Given the description of an element on the screen output the (x, y) to click on. 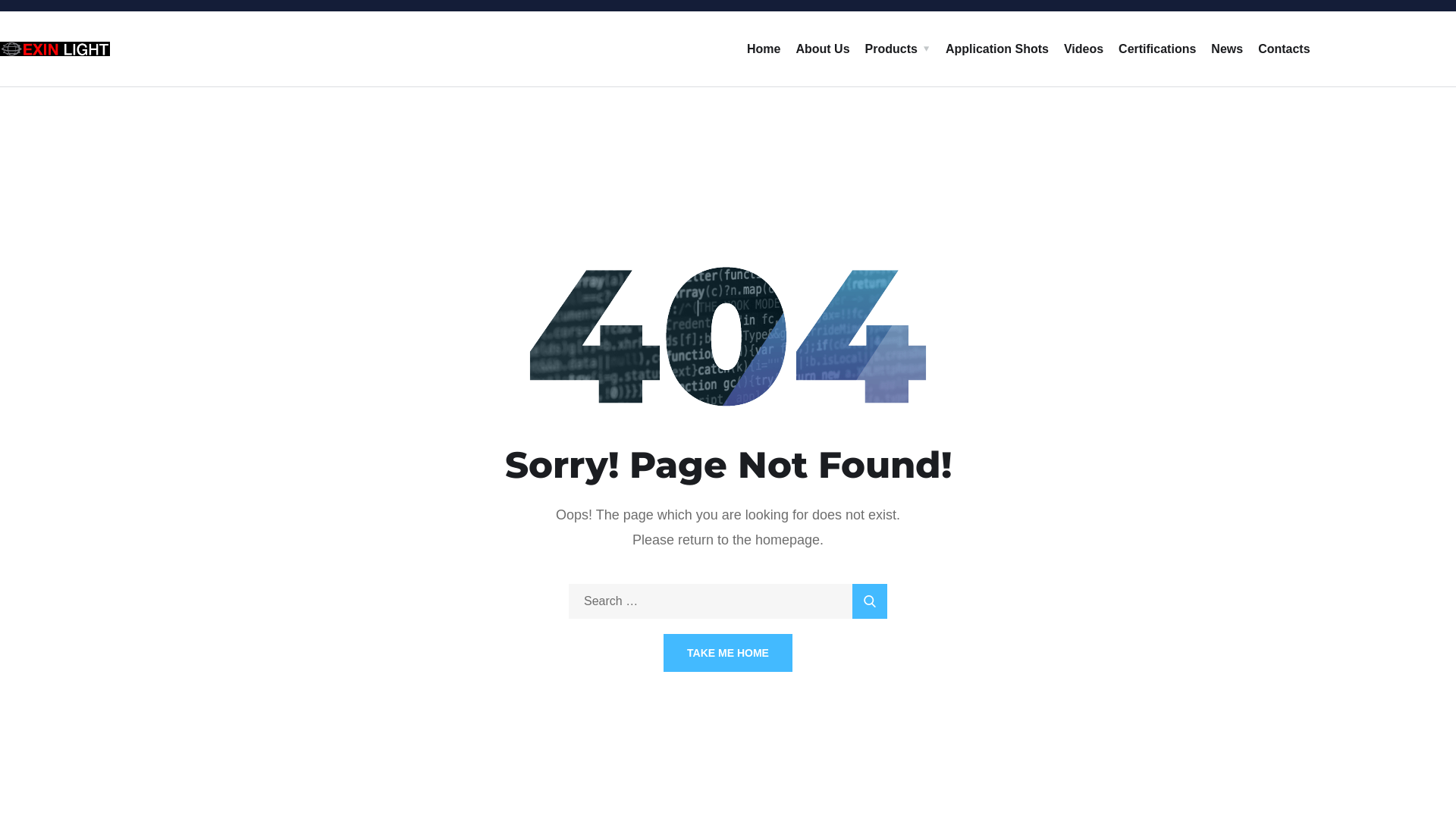
Application Shots Element type: text (996, 48)
Home Element type: text (763, 48)
News Element type: text (1226, 48)
Products Element type: text (897, 48)
Certifications Element type: text (1156, 48)
Videos Element type: text (1083, 48)
TAKE ME HOME Element type: text (727, 652)
About Us Element type: text (822, 48)
Contacts Element type: text (1283, 48)
